Given the description of an element on the screen output the (x, y) to click on. 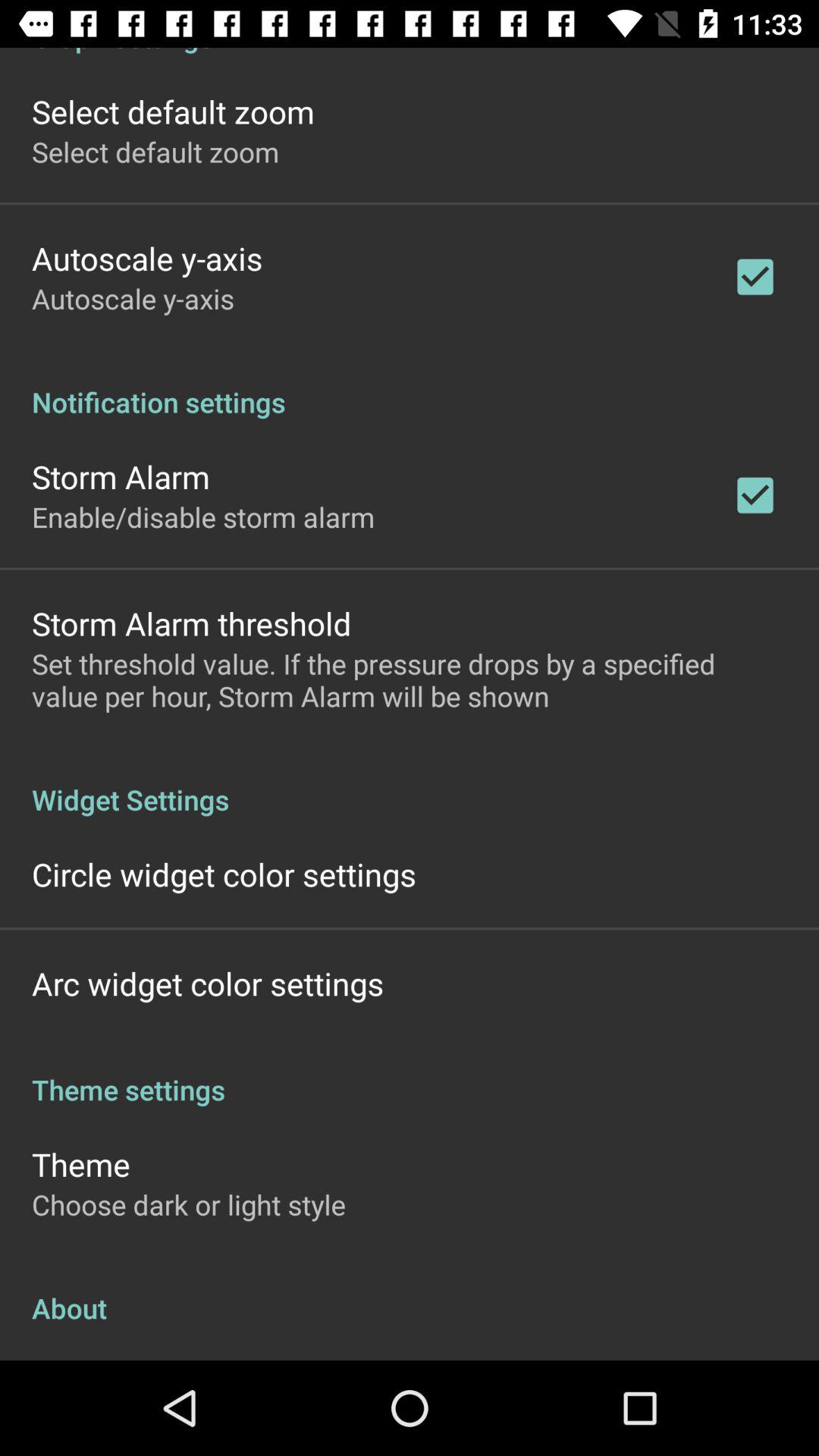
press item below the theme (188, 1204)
